Given the description of an element on the screen output the (x, y) to click on. 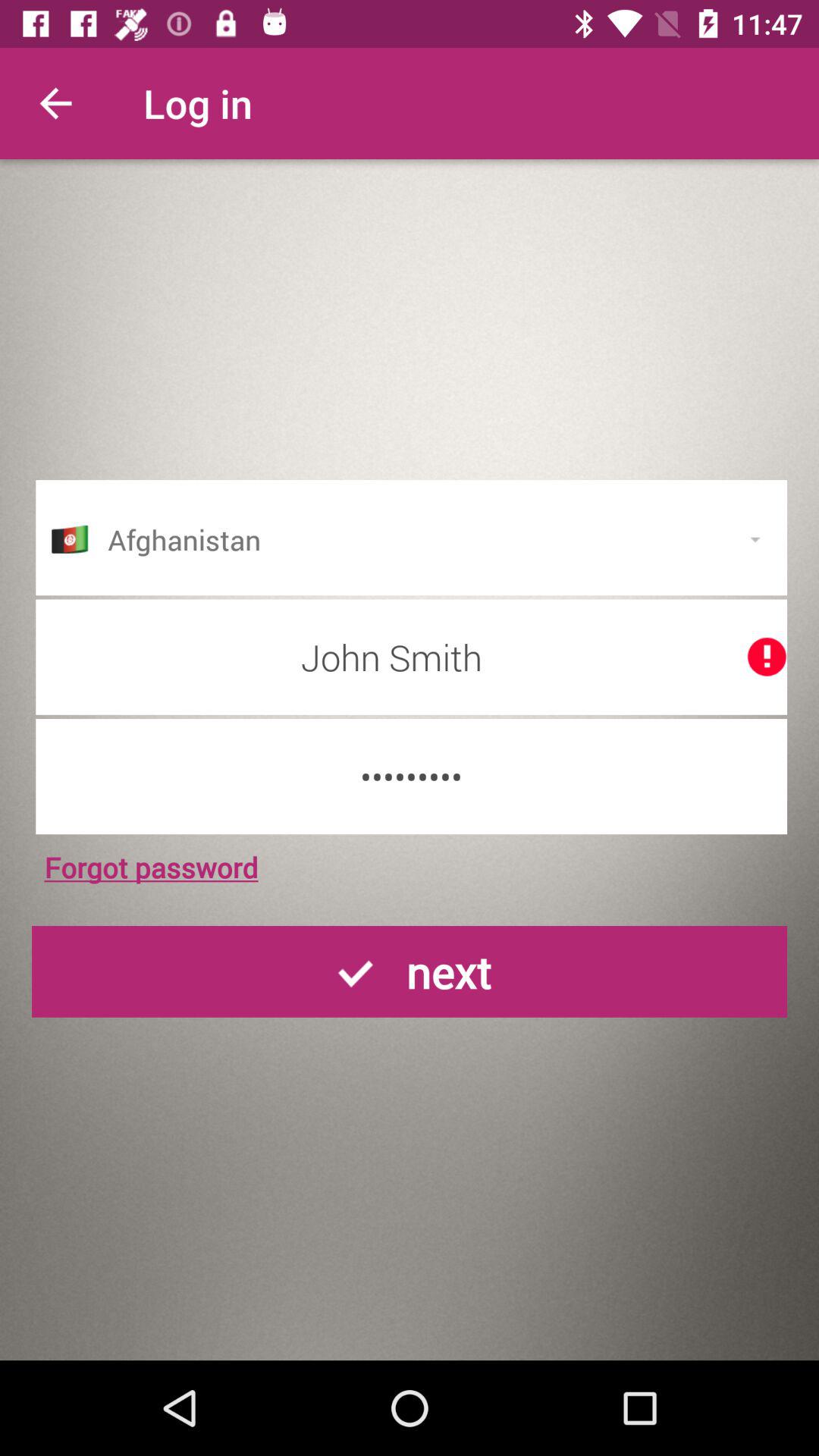
launch the item next to the log in item (55, 103)
